Given the description of an element on the screen output the (x, y) to click on. 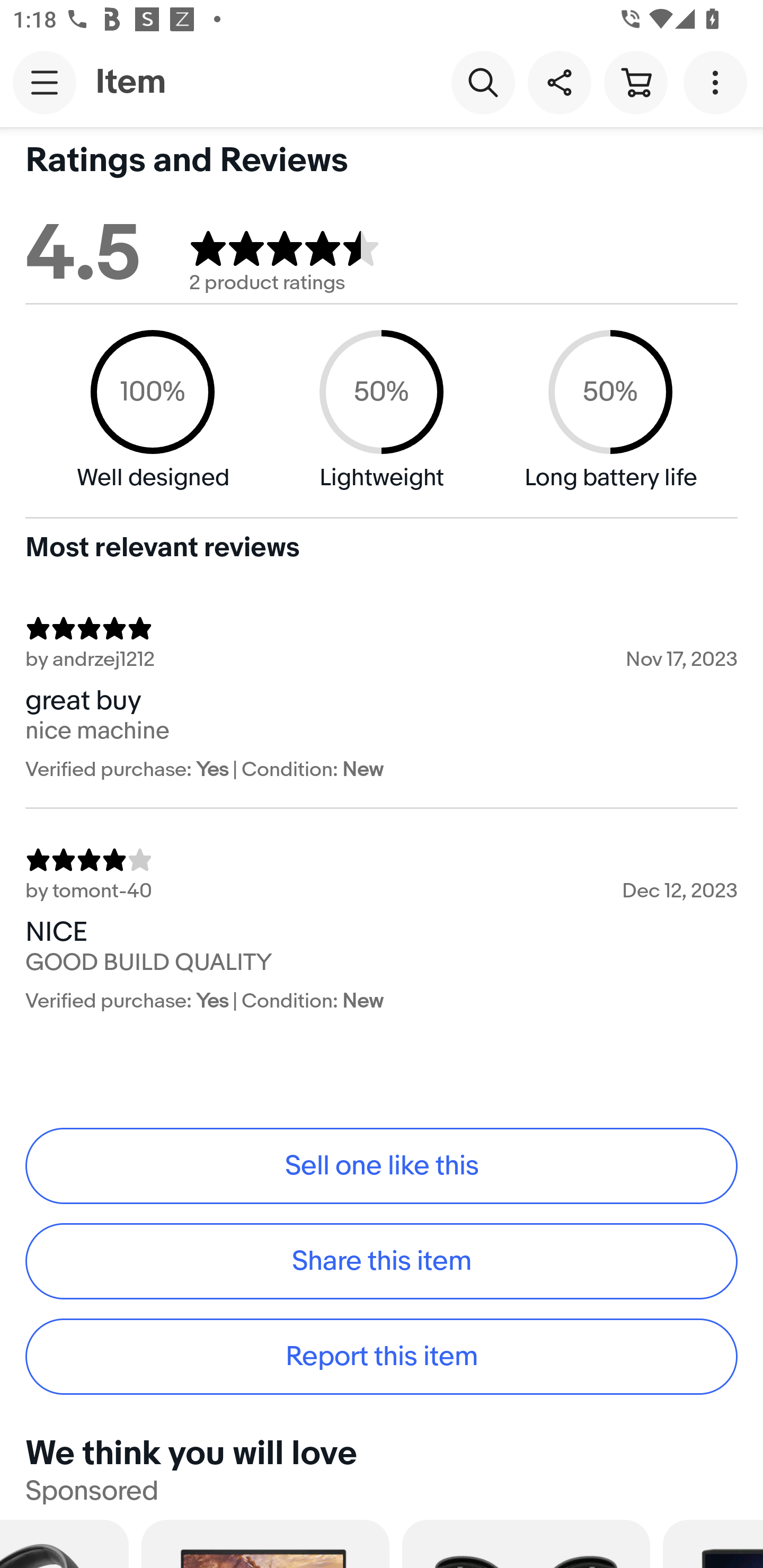
Main navigation, open (44, 82)
Search (482, 81)
Share this item (559, 81)
Cart button shopping cart (635, 81)
More options (718, 81)
Sell one like this (381, 1165)
Share this item (381, 1261)
Report this item (381, 1356)
